Given the description of an element on the screen output the (x, y) to click on. 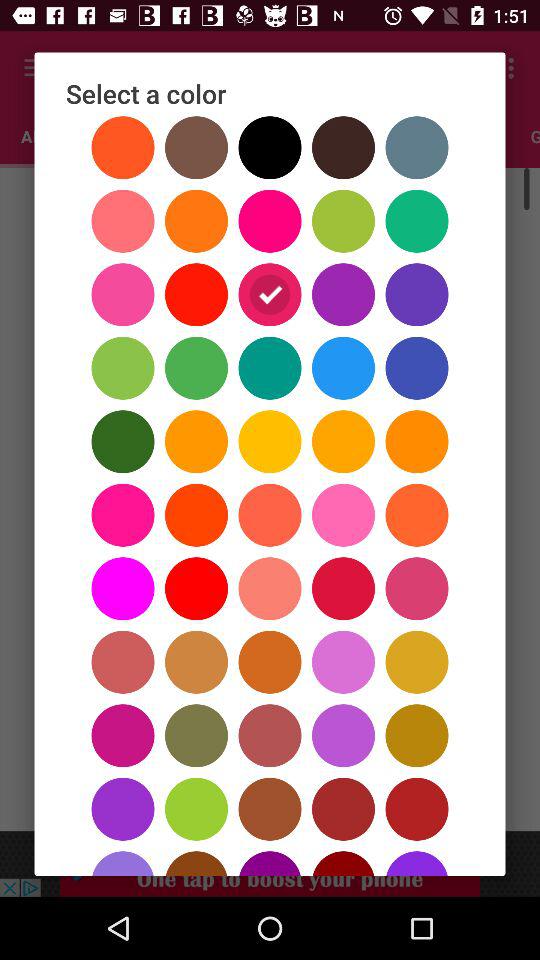
select the color icon which is in third row and third column (36, 67)
click on the pink color (270, 136)
